Given the description of an element on the screen output the (x, y) to click on. 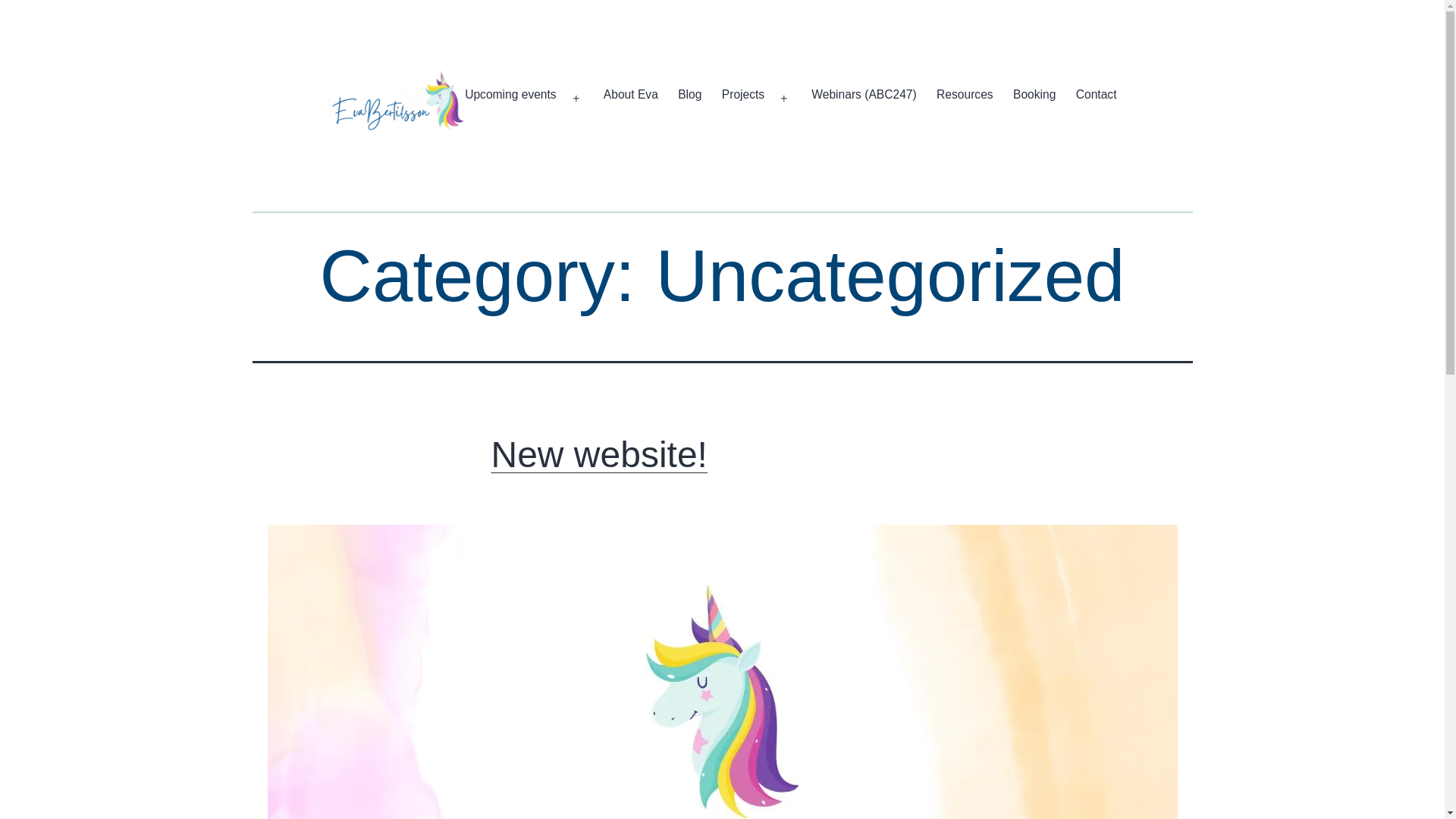
New website! (599, 454)
Booking (1034, 98)
Contact (1095, 98)
Upcoming events (510, 98)
Resources (964, 98)
Blog (689, 98)
About Eva (631, 98)
Projects (742, 98)
